Given the description of an element on the screen output the (x, y) to click on. 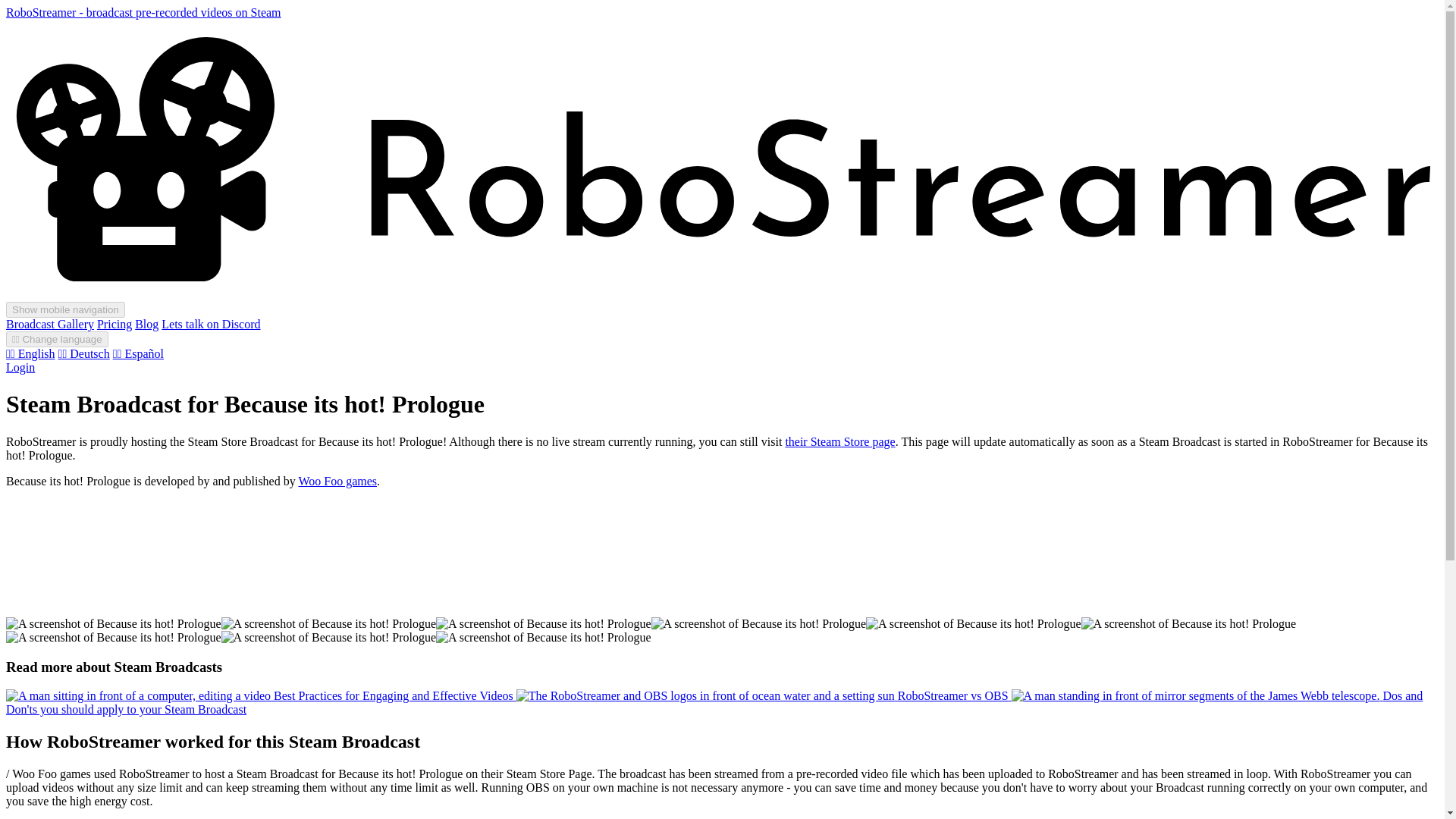
Lets talk on Discord (210, 323)
Dos and Don'ts you should apply to your Steam Broadcast (713, 702)
Blog (146, 323)
Show mobile navigation (65, 309)
Woo Foo games (337, 481)
their Steam Store page (839, 440)
Pricing (114, 323)
Best Practices for Engaging and Effective Videos (260, 695)
Login (19, 367)
RoboStreamer vs OBS (763, 695)
Broadcast Gallery (49, 323)
